Given the description of an element on the screen output the (x, y) to click on. 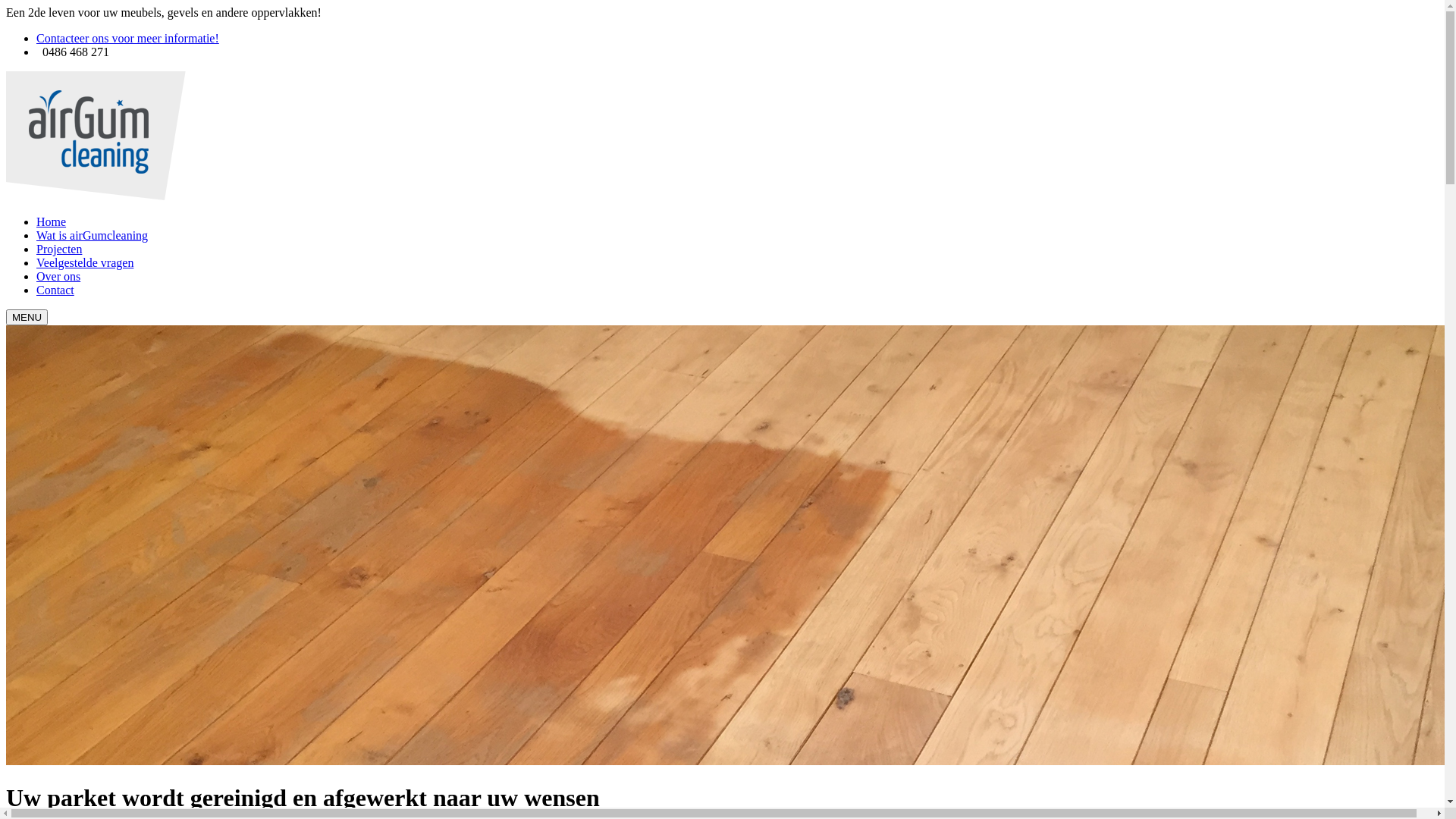
Wat is airGumcleaning Element type: text (91, 235)
Home Element type: text (50, 221)
Projecten Element type: text (58, 248)
Contacteer ons voor meer informatie! Element type: text (127, 37)
Over ons Element type: text (58, 275)
MENU Element type: text (26, 317)
Contact Element type: text (55, 289)
Veelgestelde vragen Element type: text (84, 262)
